Given the description of an element on the screen output the (x, y) to click on. 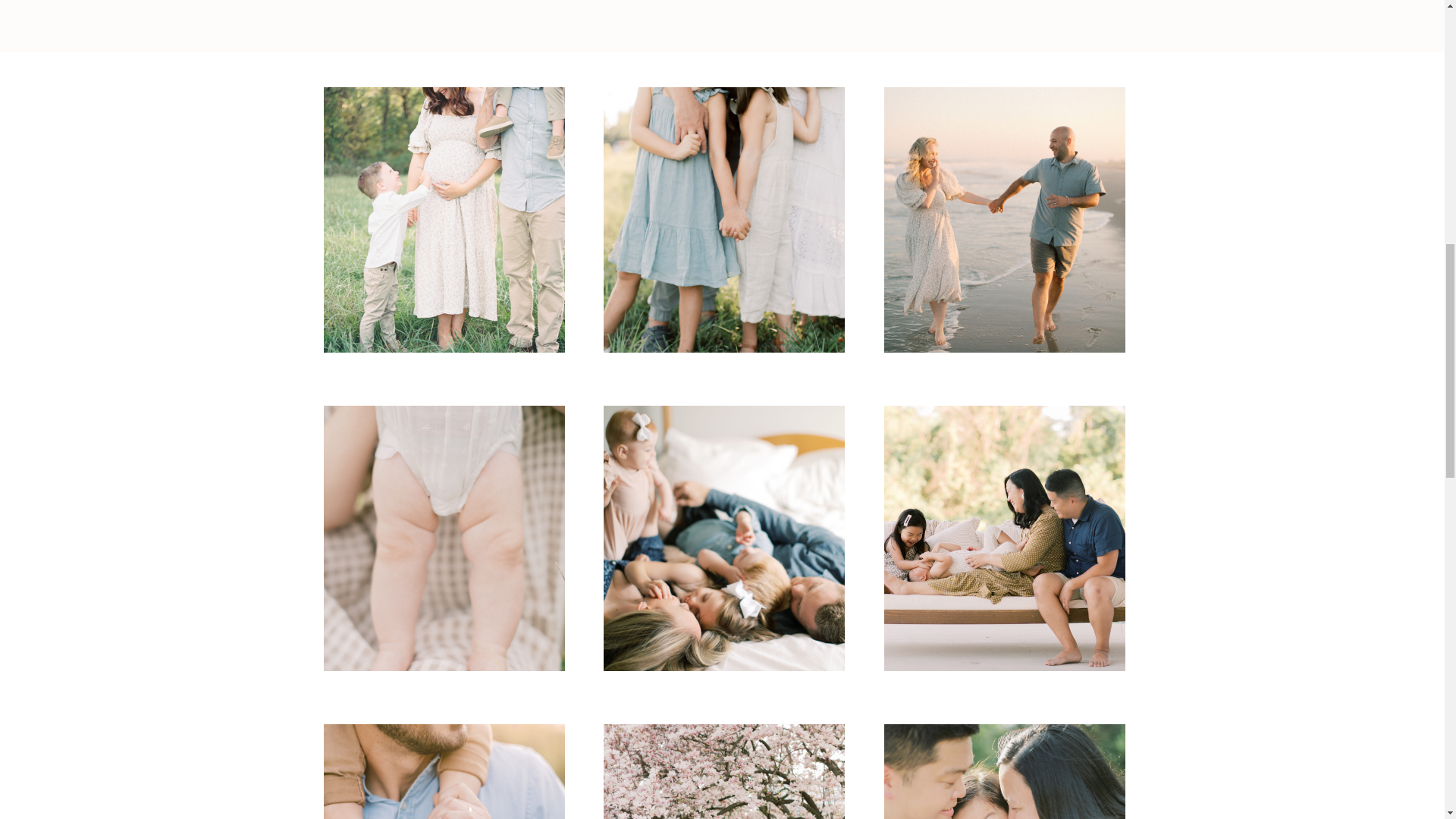
When to Schedule a Newborn Session (443, 219)
when to schedule a newborn session (445, 150)
When to Schedule a Newborn Session (445, 302)
